Given the description of an element on the screen output the (x, y) to click on. 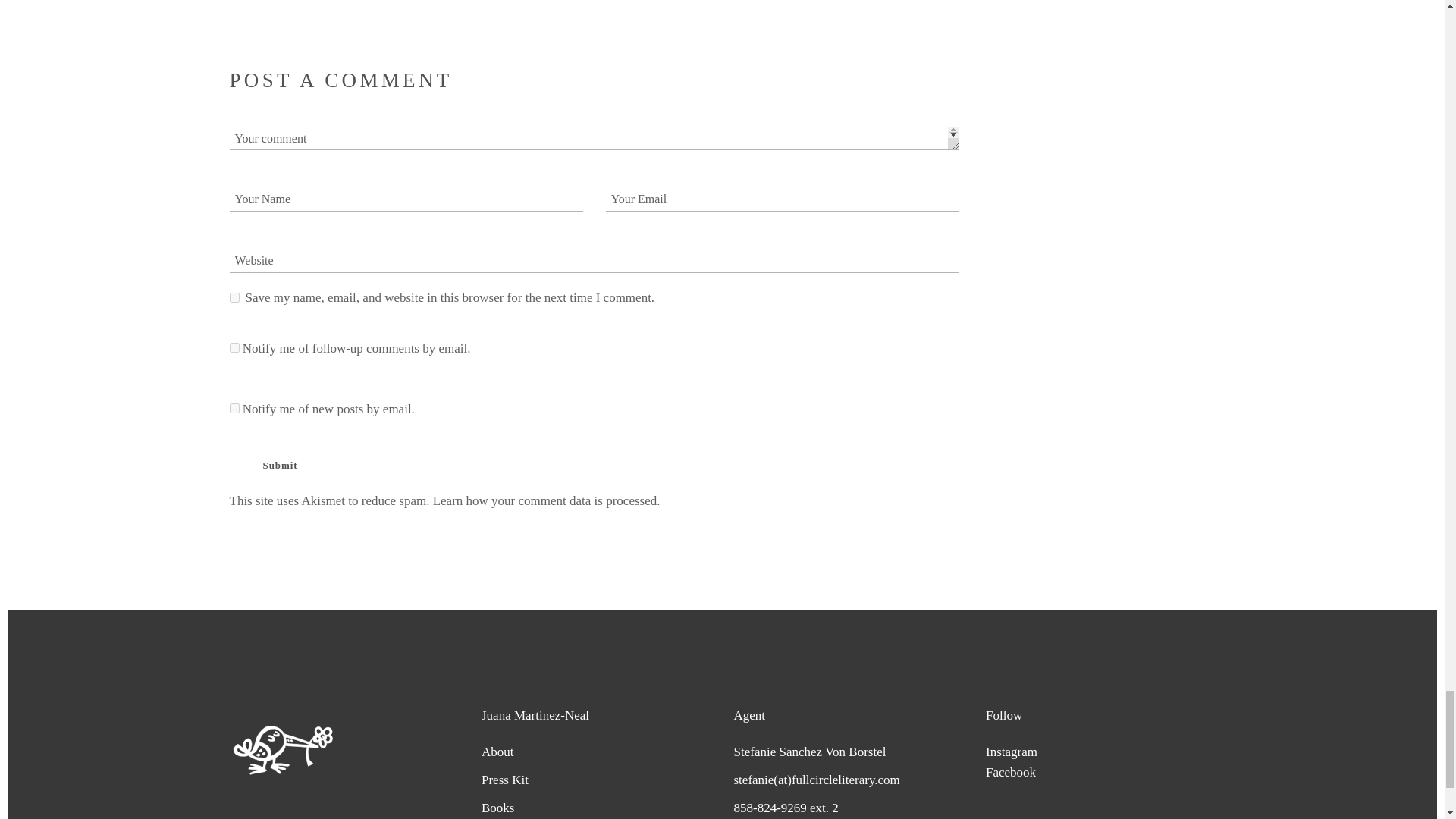
yes (233, 297)
subscribe (233, 347)
subscribe (233, 408)
